Given the description of an element on the screen output the (x, y) to click on. 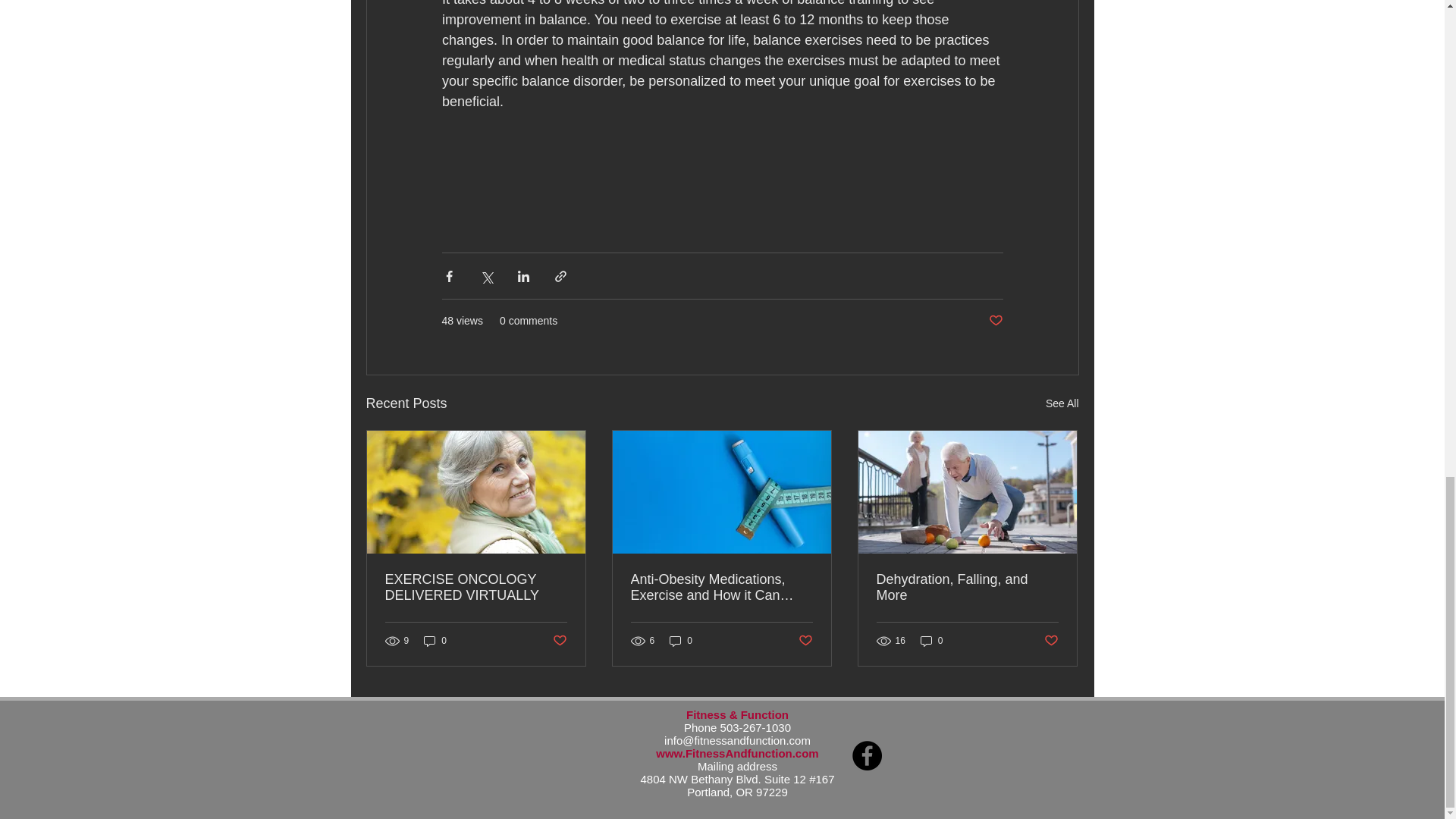
Post not marked as liked (804, 641)
Post not marked as liked (995, 320)
See All (1061, 403)
Post not marked as liked (558, 641)
EXERCISE ONCOLOGY DELIVERED VIRTUALLY (476, 587)
0 (435, 640)
0 (681, 640)
